Given the description of an element on the screen output the (x, y) to click on. 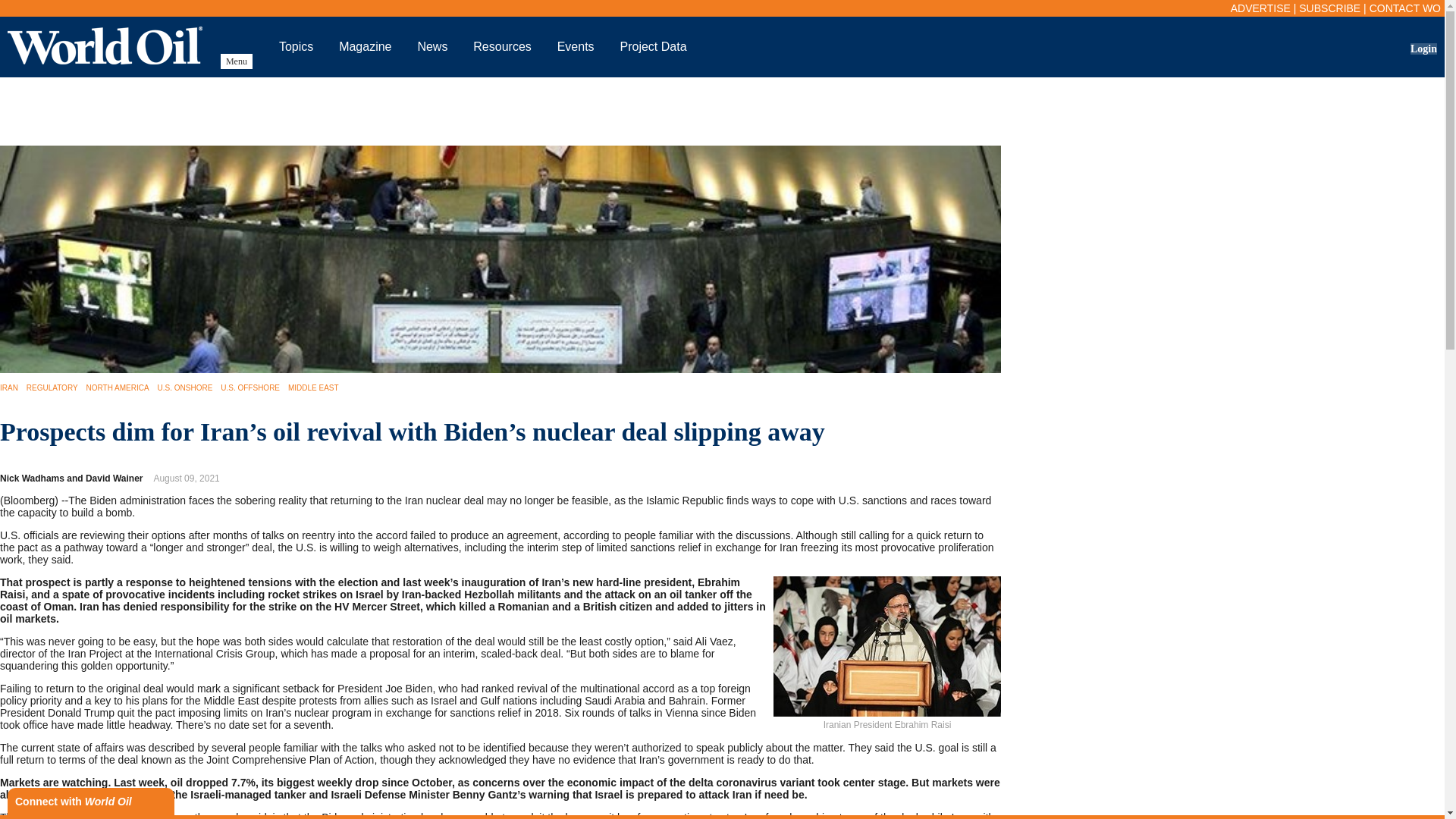
Menu (236, 61)
ADVERTISE (1260, 8)
3rd party ad content (722, 110)
SUBSCRIBE (1328, 8)
CONTACT WO (1405, 8)
Topics (296, 46)
